Given the description of an element on the screen output the (x, y) to click on. 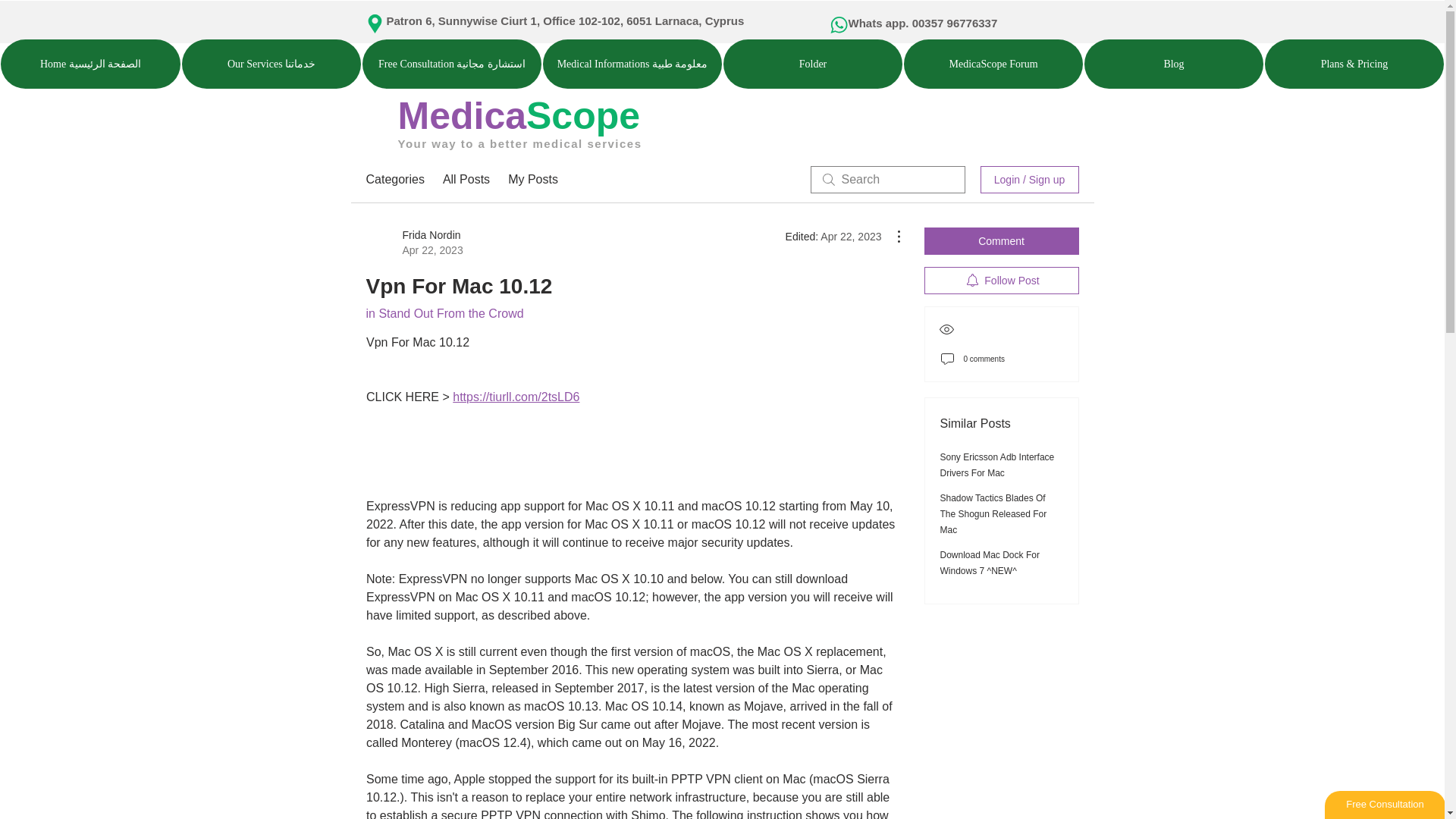
Follow Post (1000, 280)
My Posts (532, 179)
in Stand Out From the Crowd (443, 313)
MedicaScope Forum (993, 63)
Your (411, 143)
Shadow Tactics Blades Of The Shogun Released For Mac (993, 514)
Categories (394, 179)
All Posts (465, 179)
Comment (1000, 240)
Blog (1173, 63)
Sony Ericsson Adb Interface Drivers For Mac (997, 465)
